Given the description of an element on the screen output the (x, y) to click on. 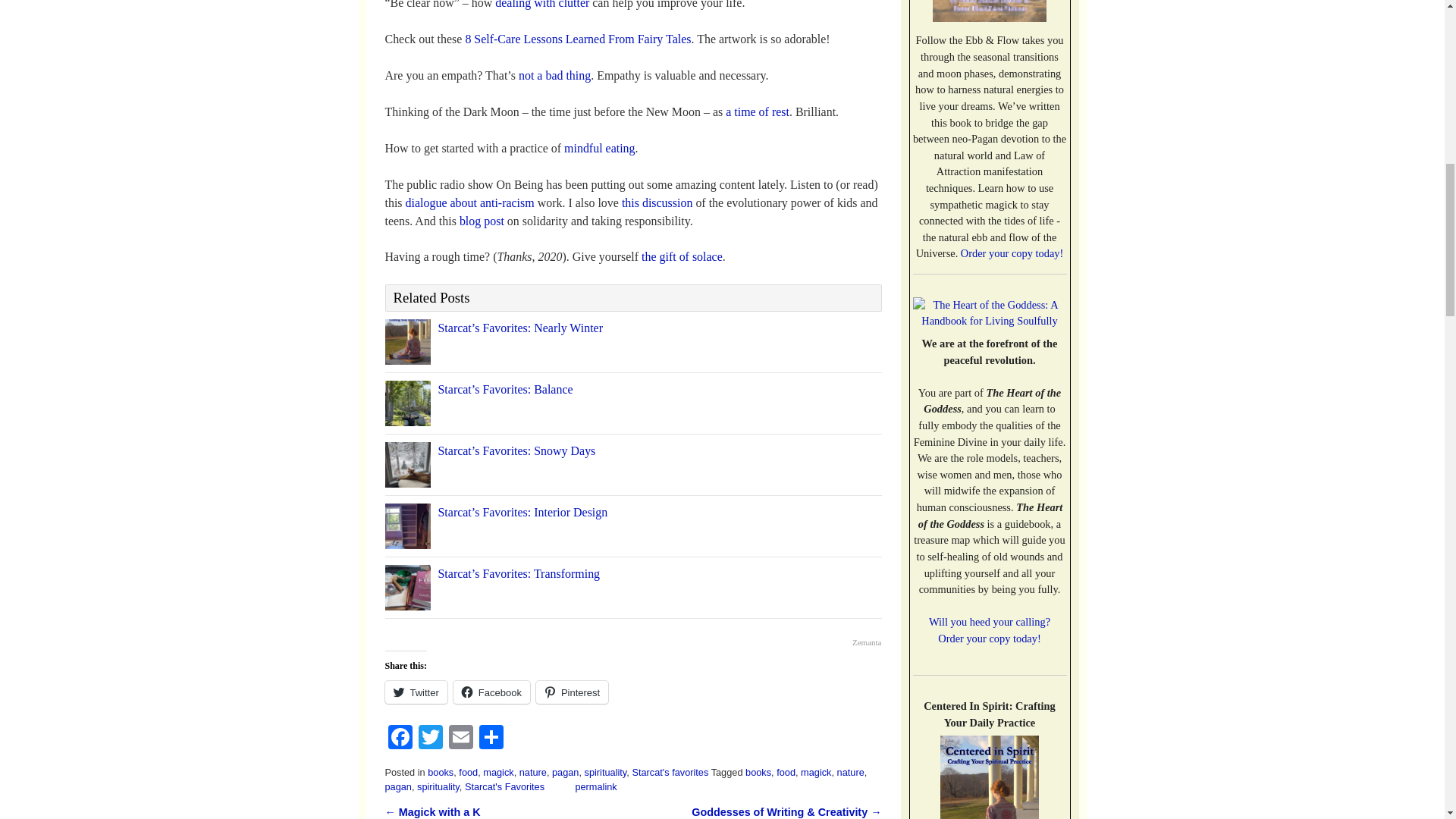
Facebook (399, 738)
Pinterest (571, 691)
Email (460, 738)
blog post (481, 220)
Zemanta (865, 642)
dialogue about anti-racism (470, 202)
Click to share on Facebook (490, 691)
Click to share on Pinterest (571, 691)
8 Self-Care Lessons Learned From Fairy Tales (577, 38)
this discussion (657, 202)
